Given the description of an element on the screen output the (x, y) to click on. 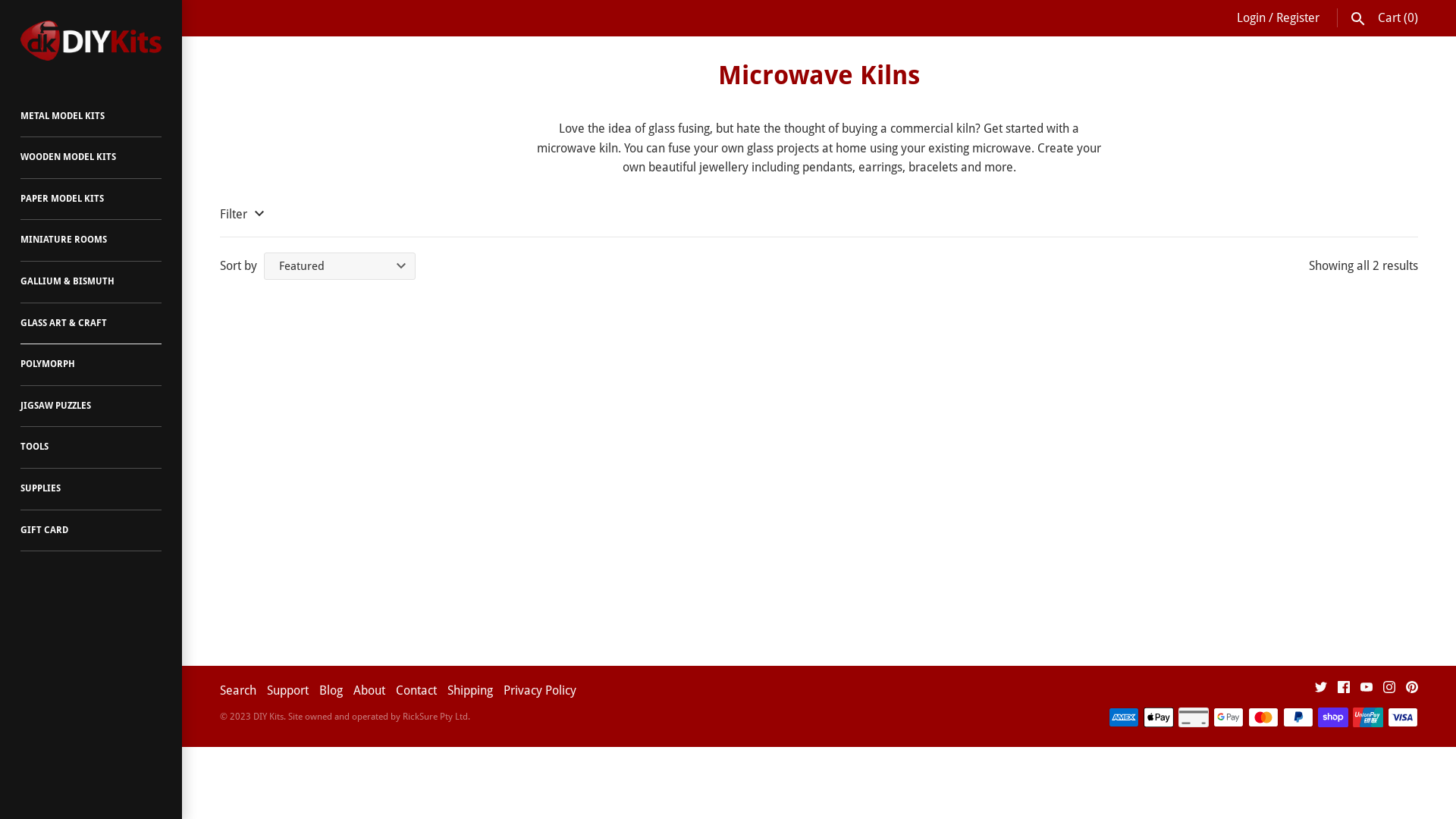
Privacy Policy Element type: text (539, 690)
Support Element type: text (287, 690)
MINIATURE ROOMS Element type: text (90, 240)
Twitter Element type: text (1320, 690)
Instagram Element type: text (1389, 690)
Login Element type: text (1250, 17)
About Element type: text (369, 690)
Register Element type: text (1297, 17)
POLYMORPH Element type: text (90, 364)
Search Element type: text (1358, 17)
GLASS ART & CRAFT Element type: text (90, 324)
Youtube Element type: text (1366, 690)
SUPPLIES Element type: text (90, 489)
Search Element type: text (237, 690)
DIY Kits Element type: text (268, 716)
GIFT CARD Element type: text (90, 531)
DIY Kits Element type: hover (91, 40)
Cart (0) Element type: text (1397, 17)
GALLIUM & BISMUTH Element type: text (90, 282)
TOOLS Element type: text (90, 447)
METAL MODEL KITS Element type: text (90, 117)
Pinterest Element type: text (1411, 690)
Blog Element type: text (330, 690)
Facebook Element type: text (1343, 690)
Contact Element type: text (415, 690)
Filter Down Element type: text (243, 214)
JIGSAW PUZZLES Element type: text (90, 406)
WOODEN MODEL KITS Element type: text (90, 157)
Shipping Element type: text (469, 690)
PAPER MODEL KITS Element type: text (90, 199)
